Given the description of an element on the screen output the (x, y) to click on. 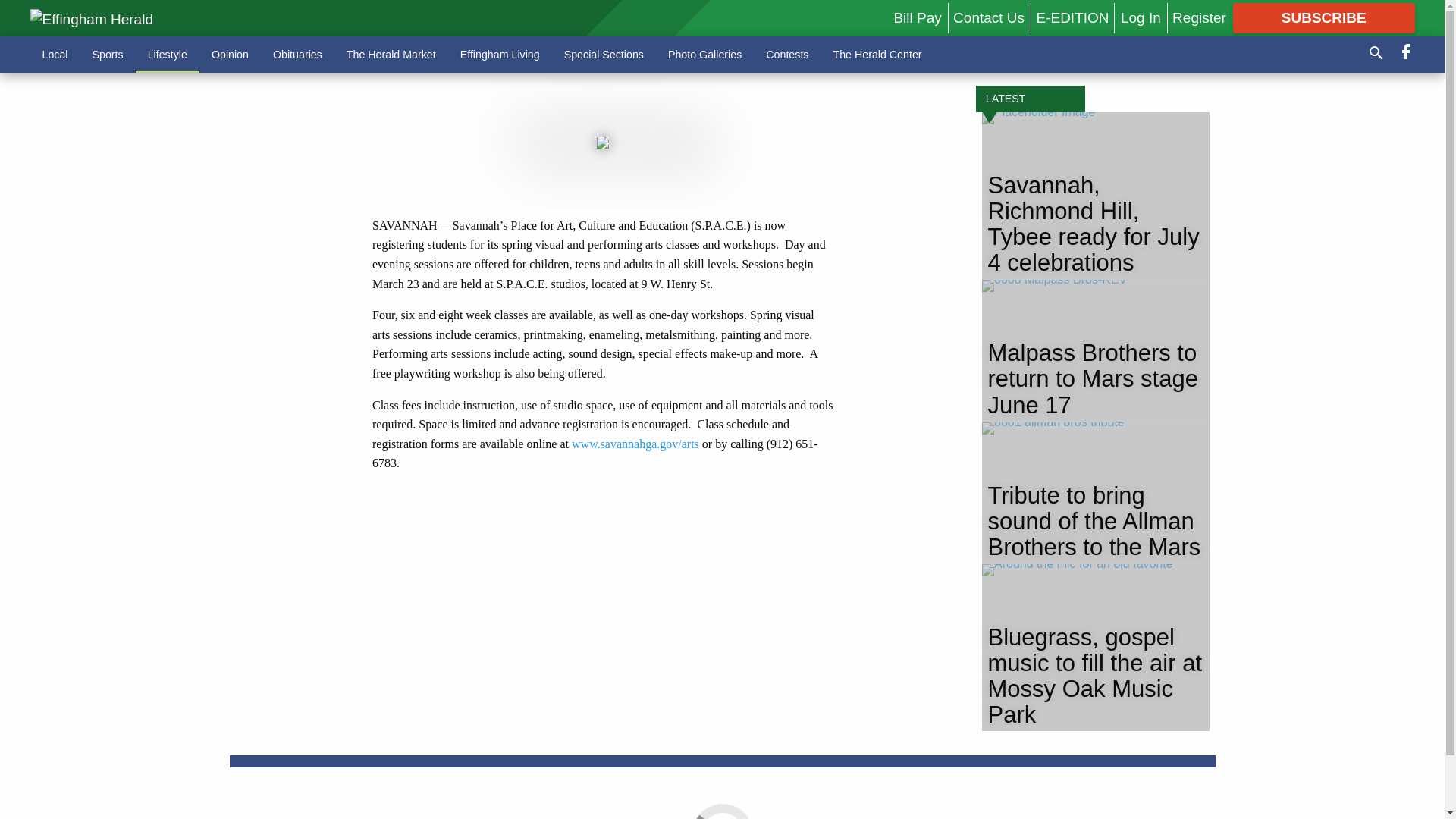
Sports (107, 54)
Opinion (229, 54)
Savannah Arts (635, 443)
Local (55, 54)
Register (1198, 17)
Log In (1140, 17)
E-EDITION (1071, 17)
Obituaries (297, 54)
Contact Us (989, 17)
Bill Pay (916, 17)
Lifestyle (167, 54)
SUBSCRIBE (1324, 18)
